Given the description of an element on the screen output the (x, y) to click on. 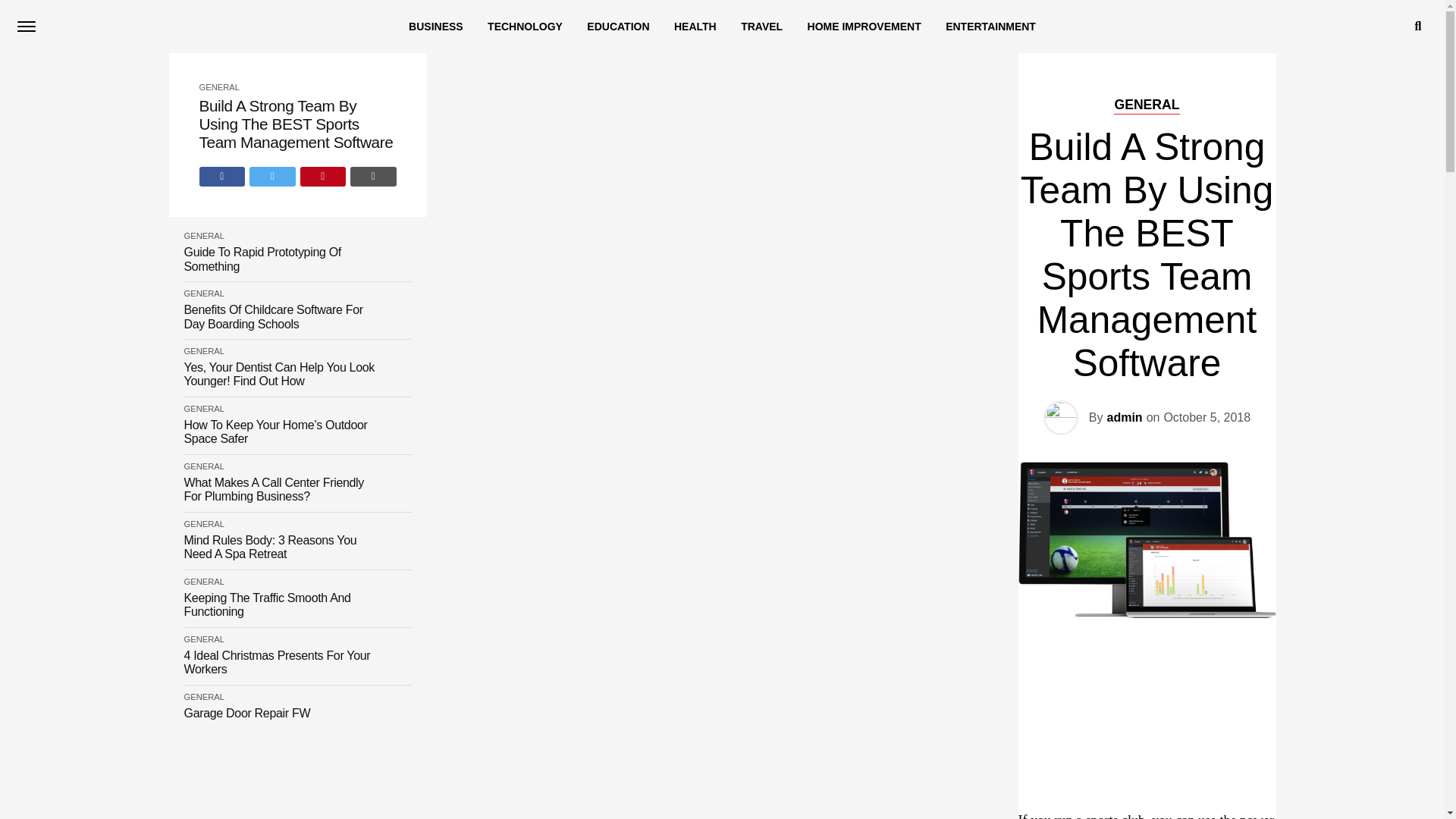
Share on Facebook (221, 176)
GENERAL (203, 408)
HOME IMPROVEMENT (863, 26)
GENERAL (203, 350)
Benefits Of Childcare Software For Day Boarding Schools (281, 317)
GENERAL (218, 86)
BUSINESS (435, 26)
TRAVEL (761, 26)
Guide To Rapid Prototyping Of Something (281, 259)
ENTERTAINMENT (990, 26)
TECHNOLOGY (525, 26)
Yes, Your Dentist Can Help You Look Younger! Find Out How (281, 375)
Tweet This Post (271, 176)
GENERAL (203, 293)
